Given the description of an element on the screen output the (x, y) to click on. 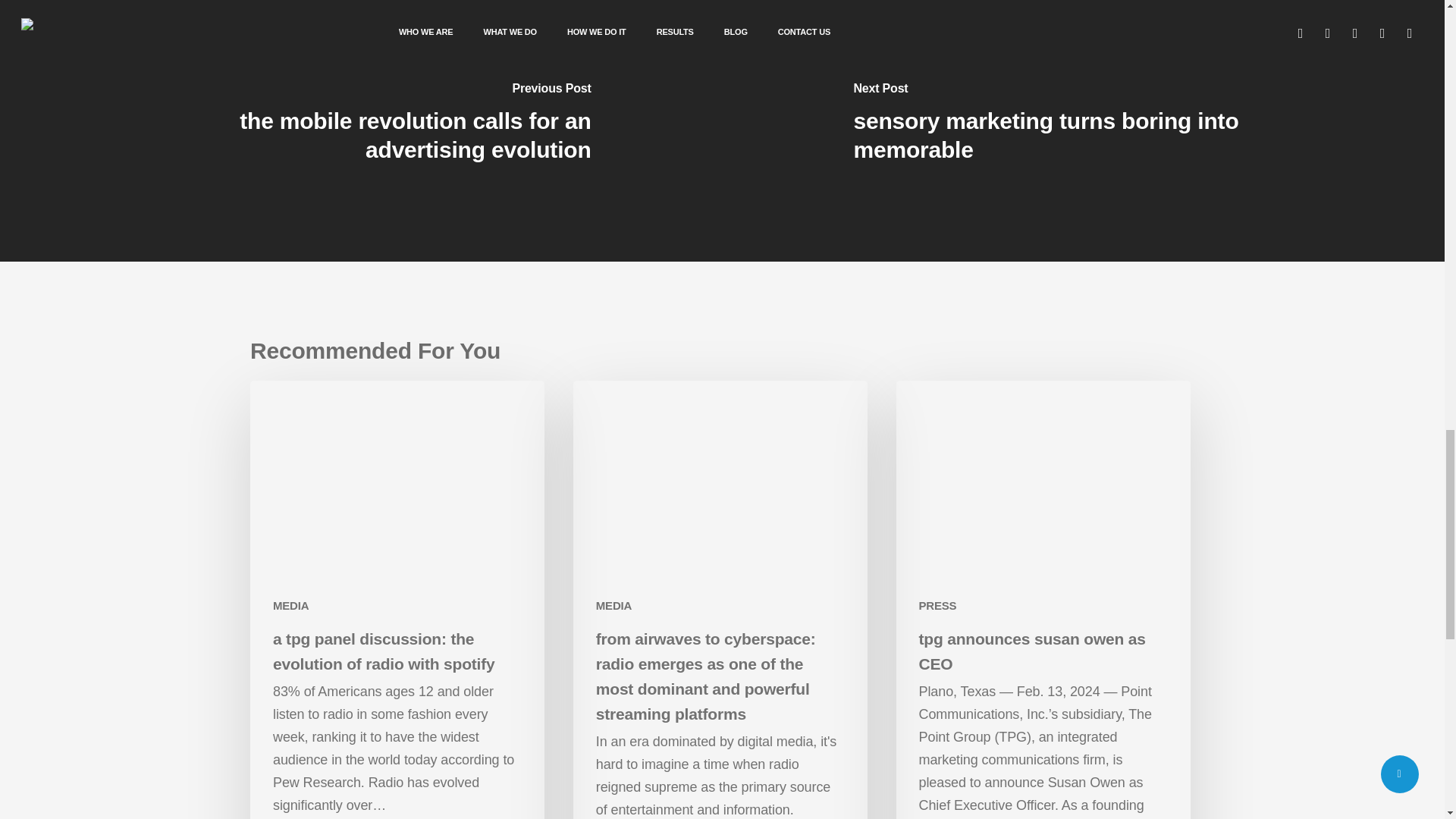
MEDIA (290, 604)
MEDIA (613, 604)
PRESS (937, 604)
